Given the description of an element on the screen output the (x, y) to click on. 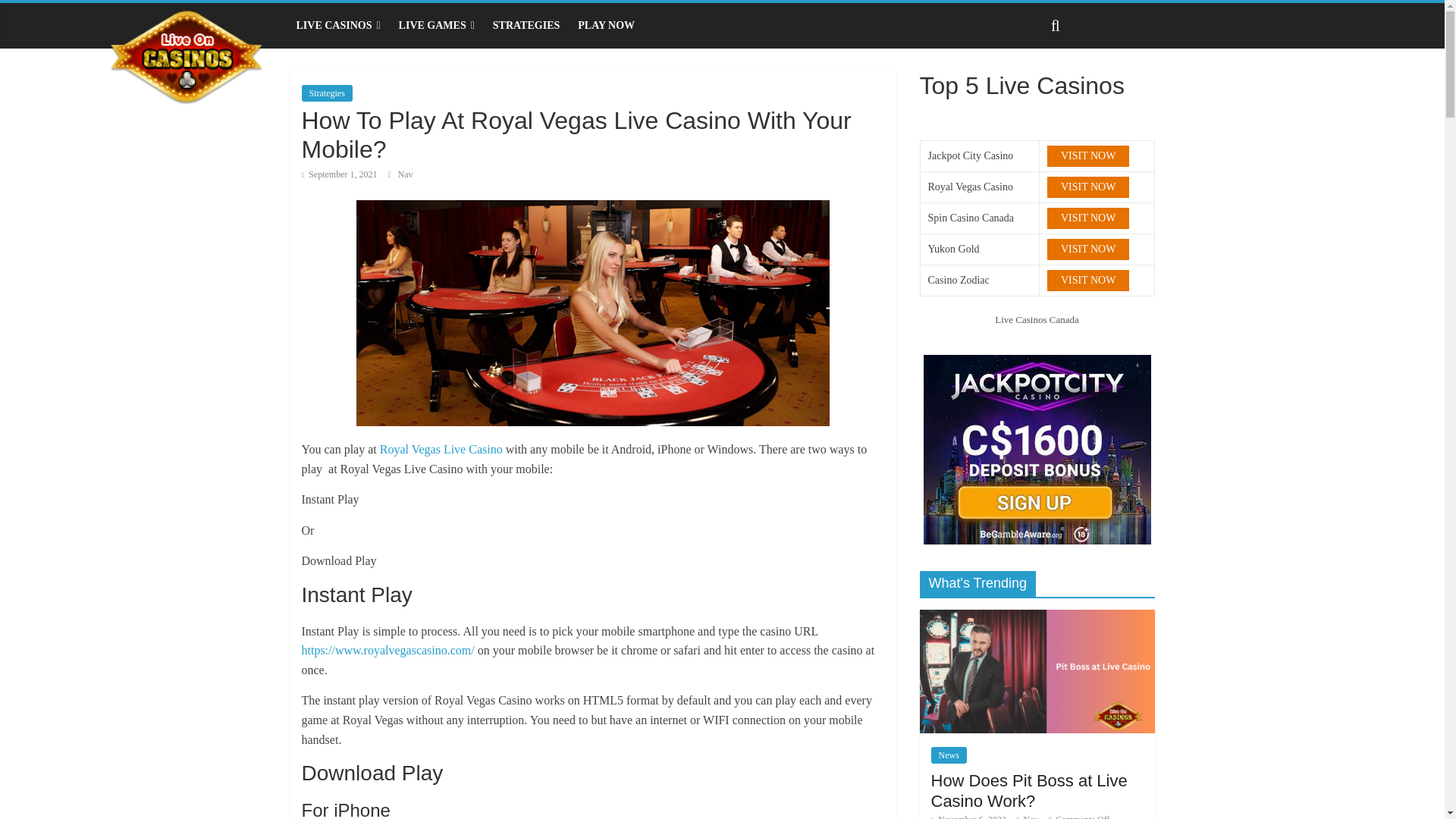
STRATEGIES (526, 25)
VISIT NOW (1087, 187)
News (948, 754)
Royal Vegas Live Casino (441, 449)
8:56 am (339, 173)
Nav (405, 173)
Casino Action Canada (1087, 280)
How Does Pit Boss at Live Casino Work? (1036, 617)
How Does Pit Boss at Live Casino Work? (1036, 671)
Strategies (326, 93)
Yukon Canada (1087, 249)
Nav (405, 173)
Nav (1030, 816)
Jackpot City Canada (1087, 156)
Royal Vegas Canada (1087, 187)
